Given the description of an element on the screen output the (x, y) to click on. 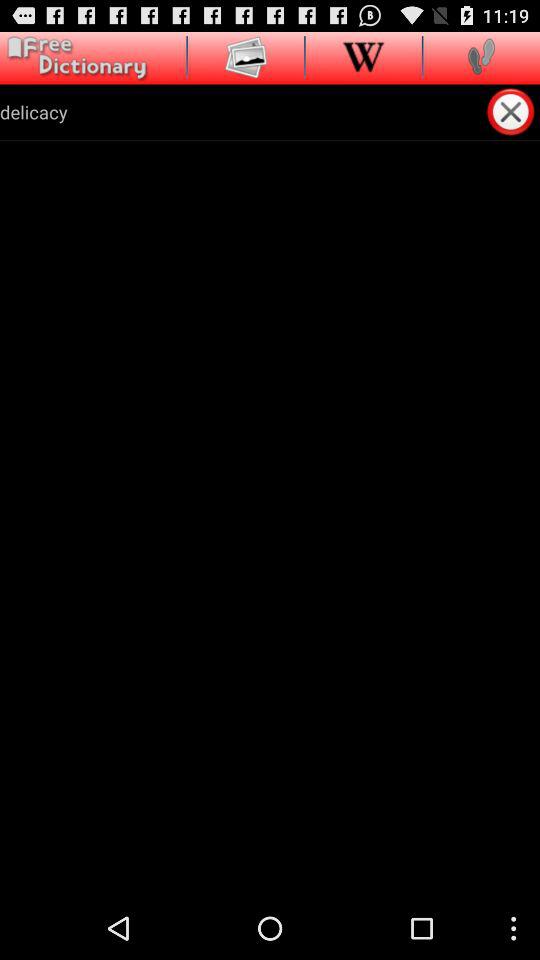
choose the app above delicacy icon (363, 56)
